Given the description of an element on the screen output the (x, y) to click on. 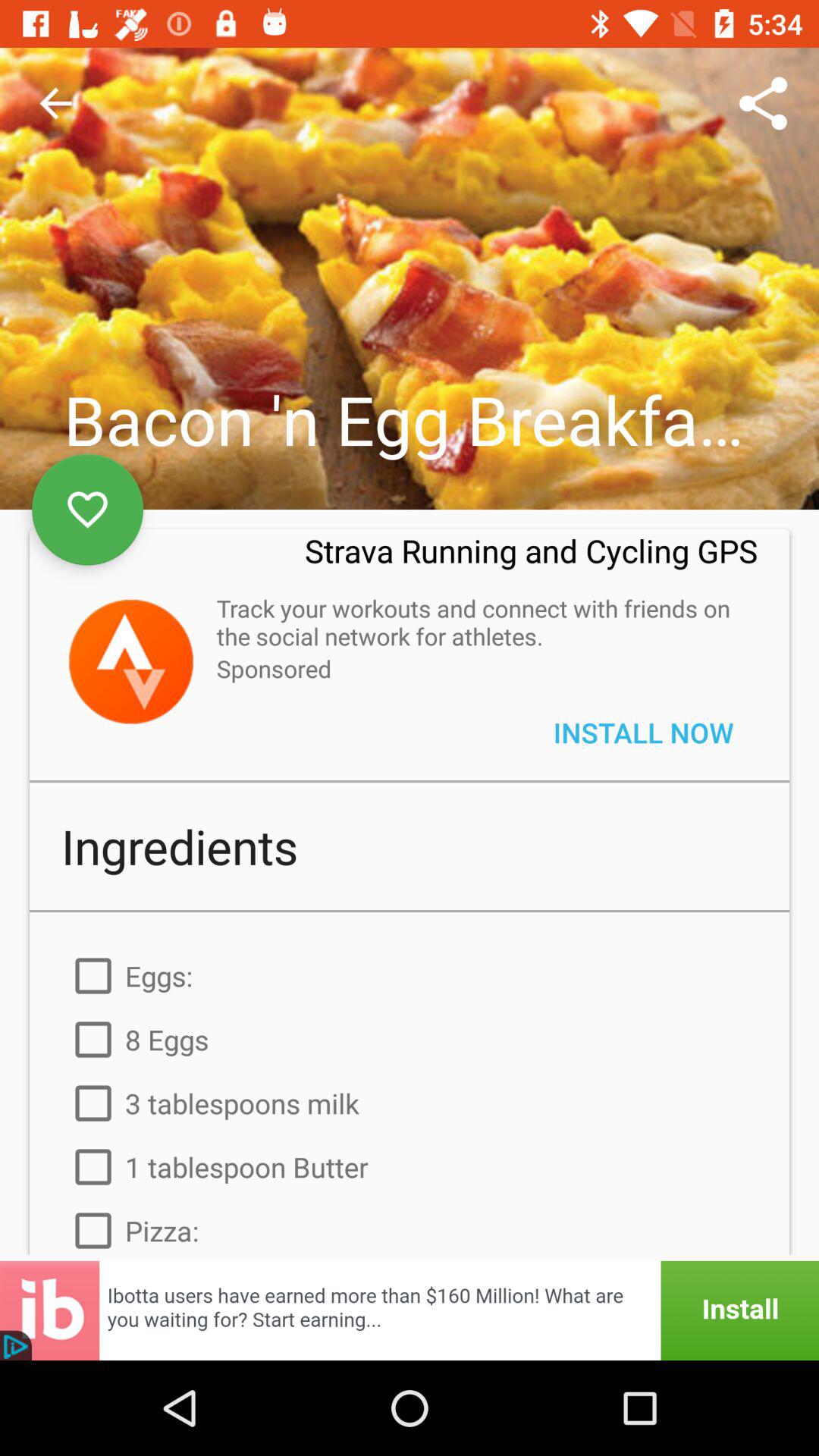
choose item below the eggs:  icon (409, 1039)
